Given the description of an element on the screen output the (x, y) to click on. 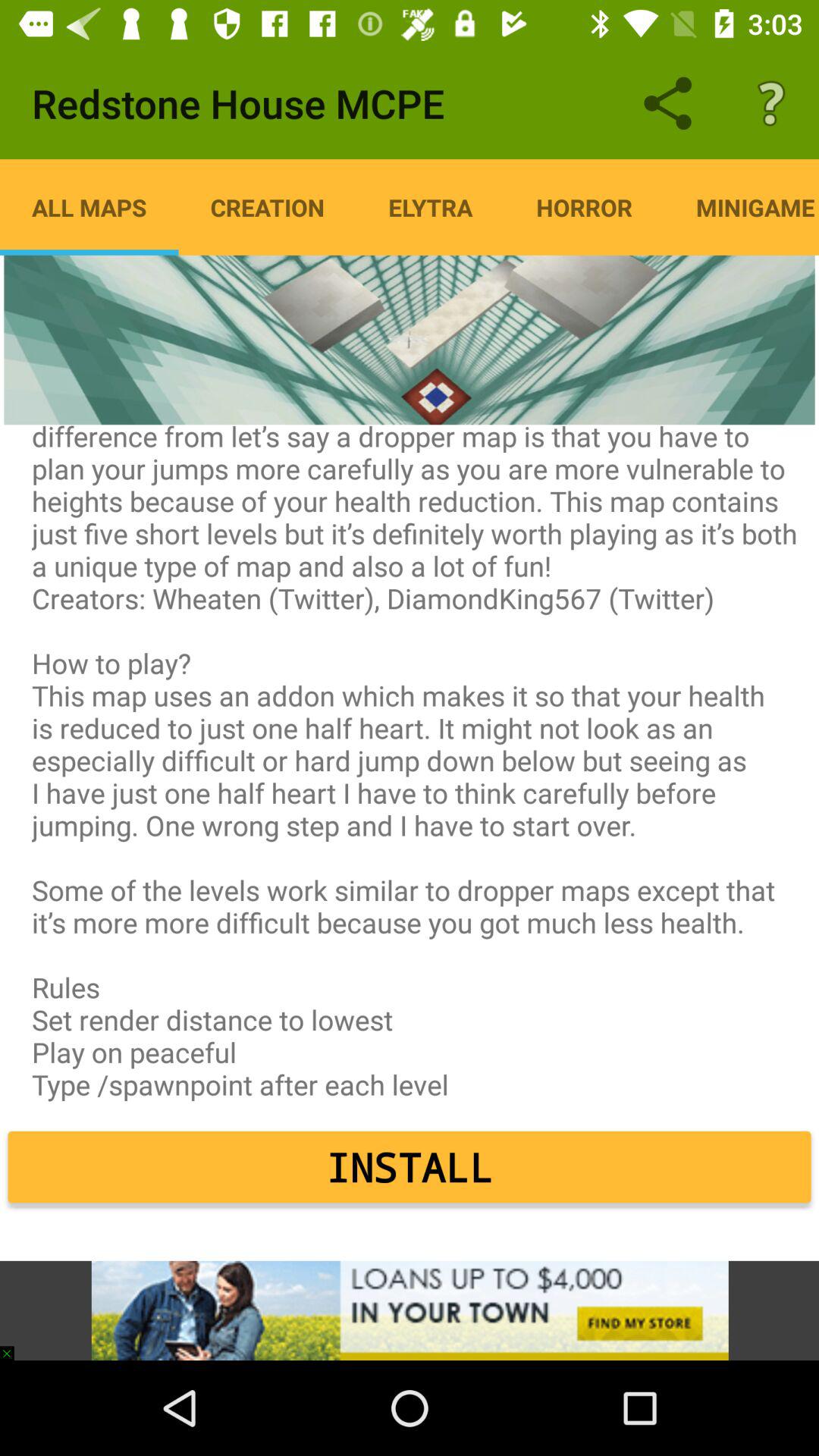
press icon to the left of horror (430, 207)
